Given the description of an element on the screen output the (x, y) to click on. 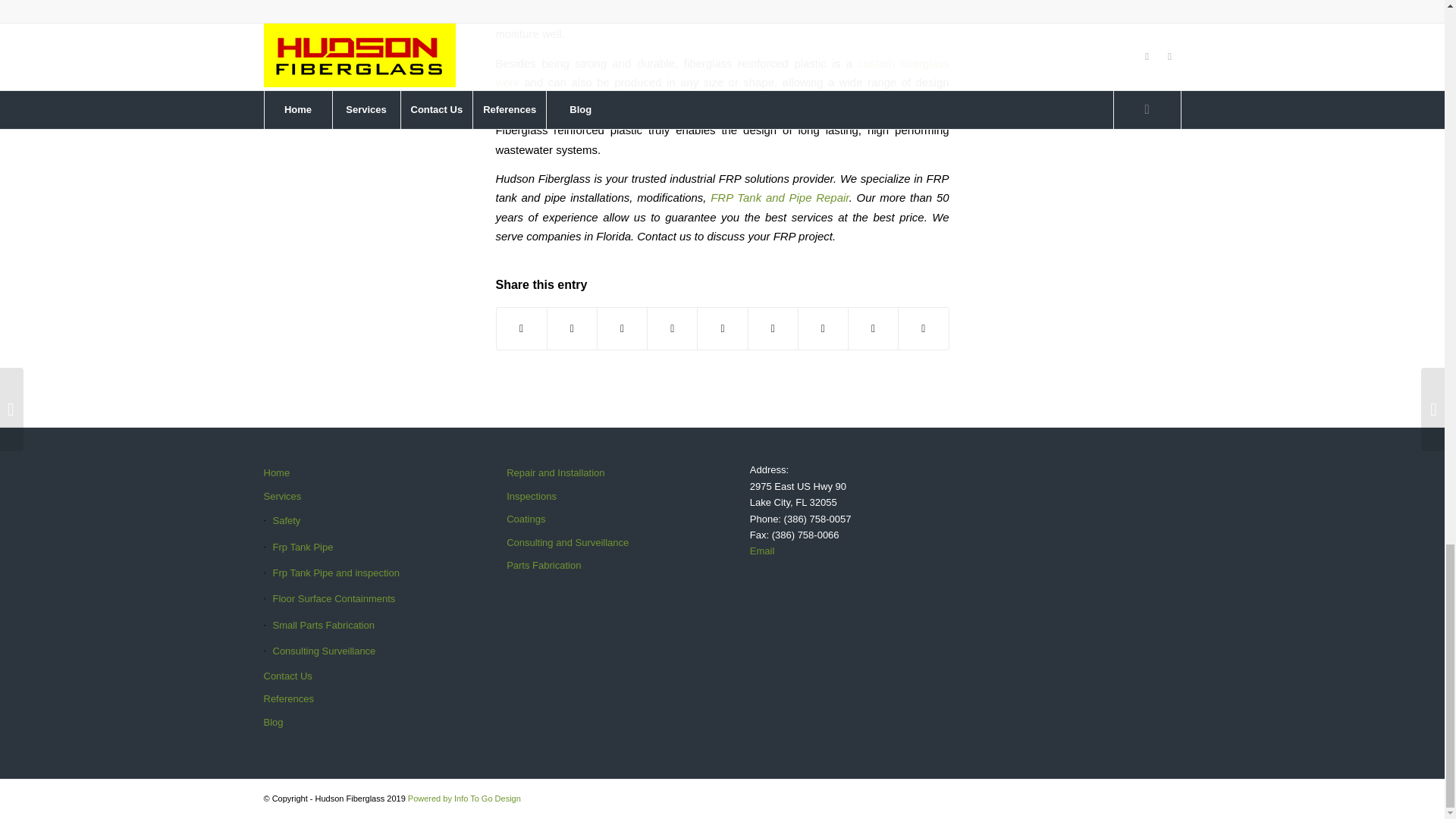
Services (357, 496)
custom fiberglass work (722, 72)
Frp Tank Pipe and inspection (357, 573)
Frp Tank Pipe (357, 547)
FRP Tank and Pipe Repair (779, 196)
Safety (357, 520)
Home (357, 472)
